Given the description of an element on the screen output the (x, y) to click on. 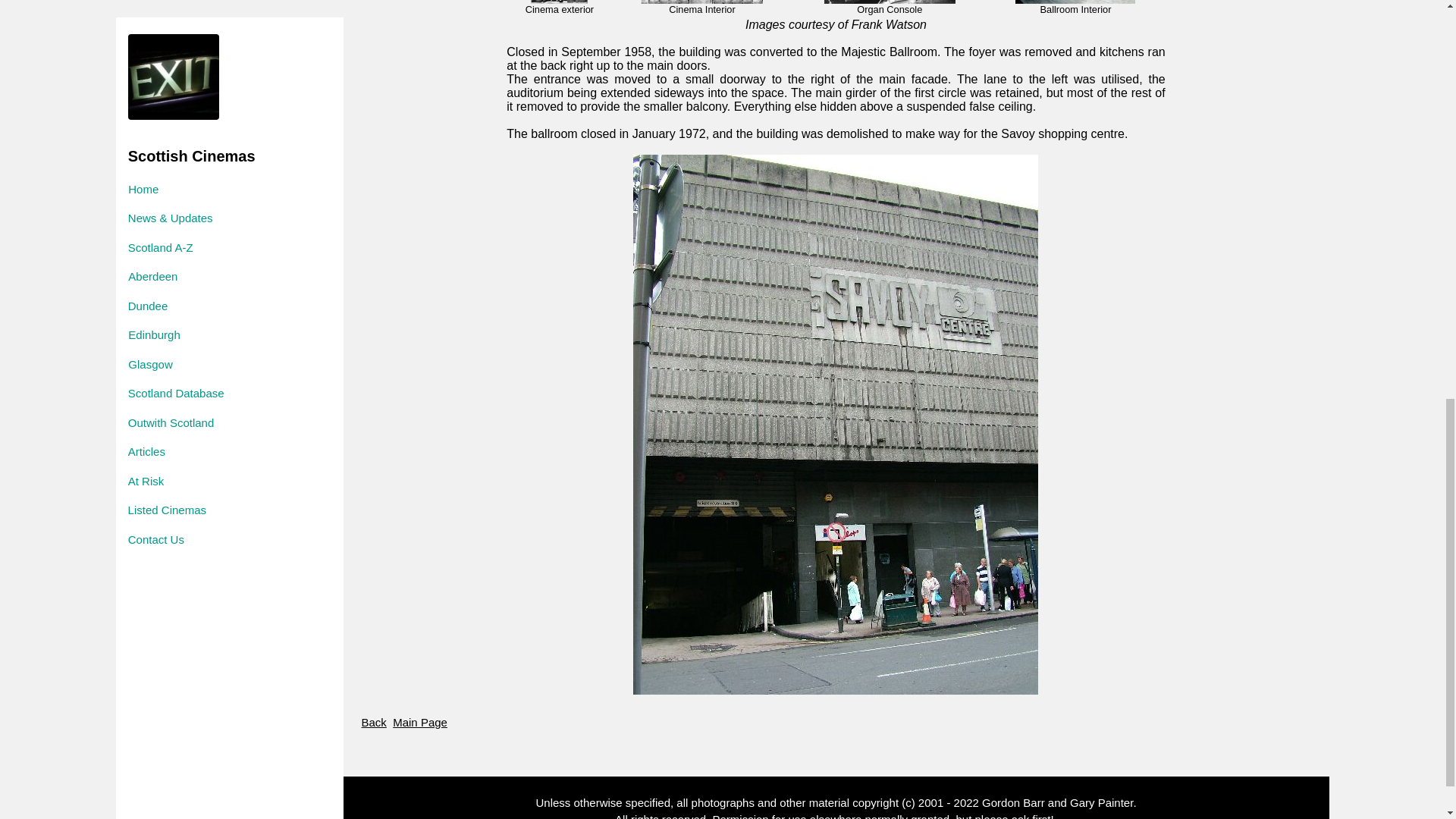
Back (373, 721)
please ask first (1011, 816)
Main Page (419, 721)
